Given the description of an element on the screen output the (x, y) to click on. 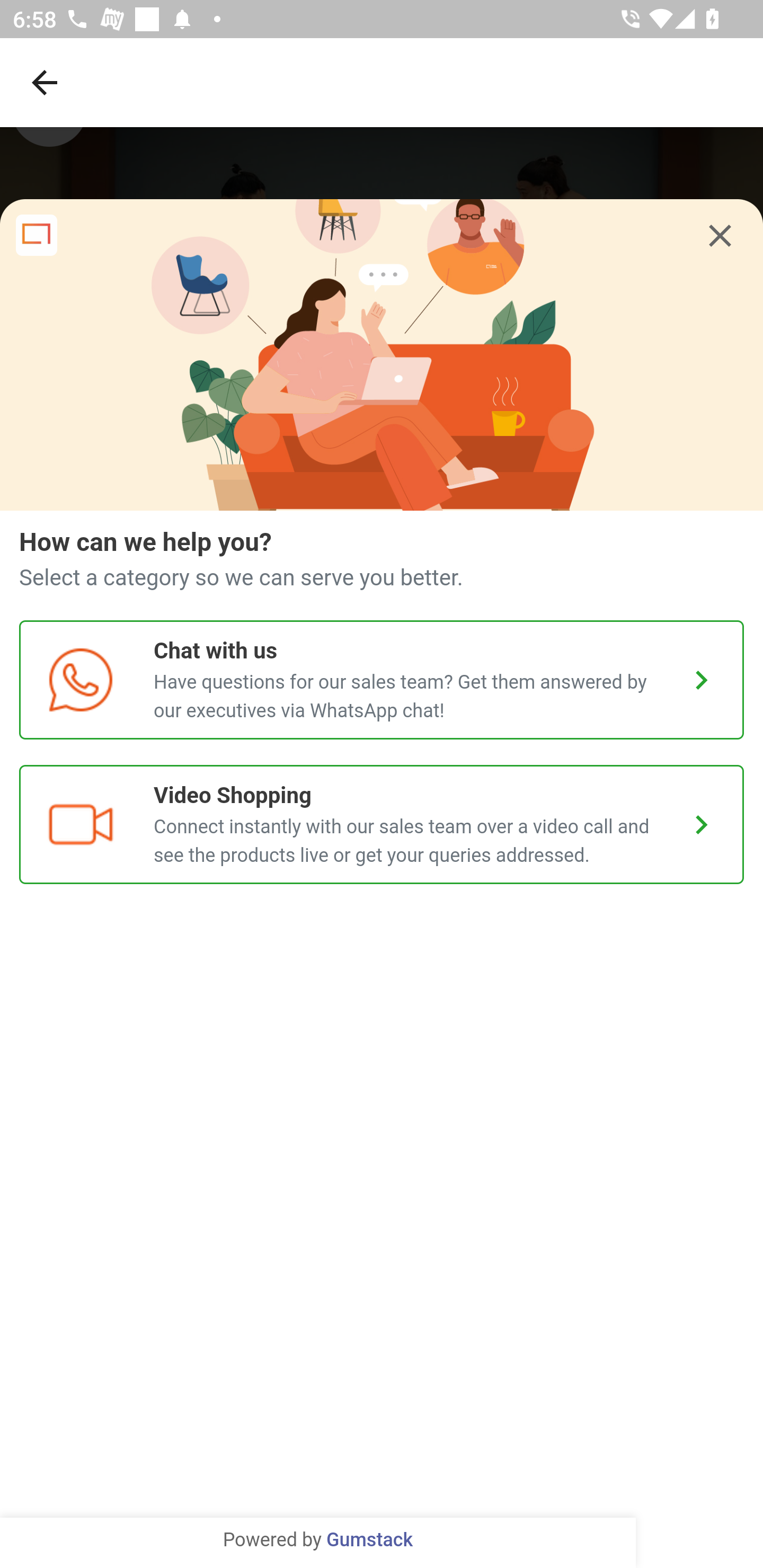
Navigate up (44, 82)
clear (720, 237)
Gumstack (369, 1540)
